Given the description of an element on the screen output the (x, y) to click on. 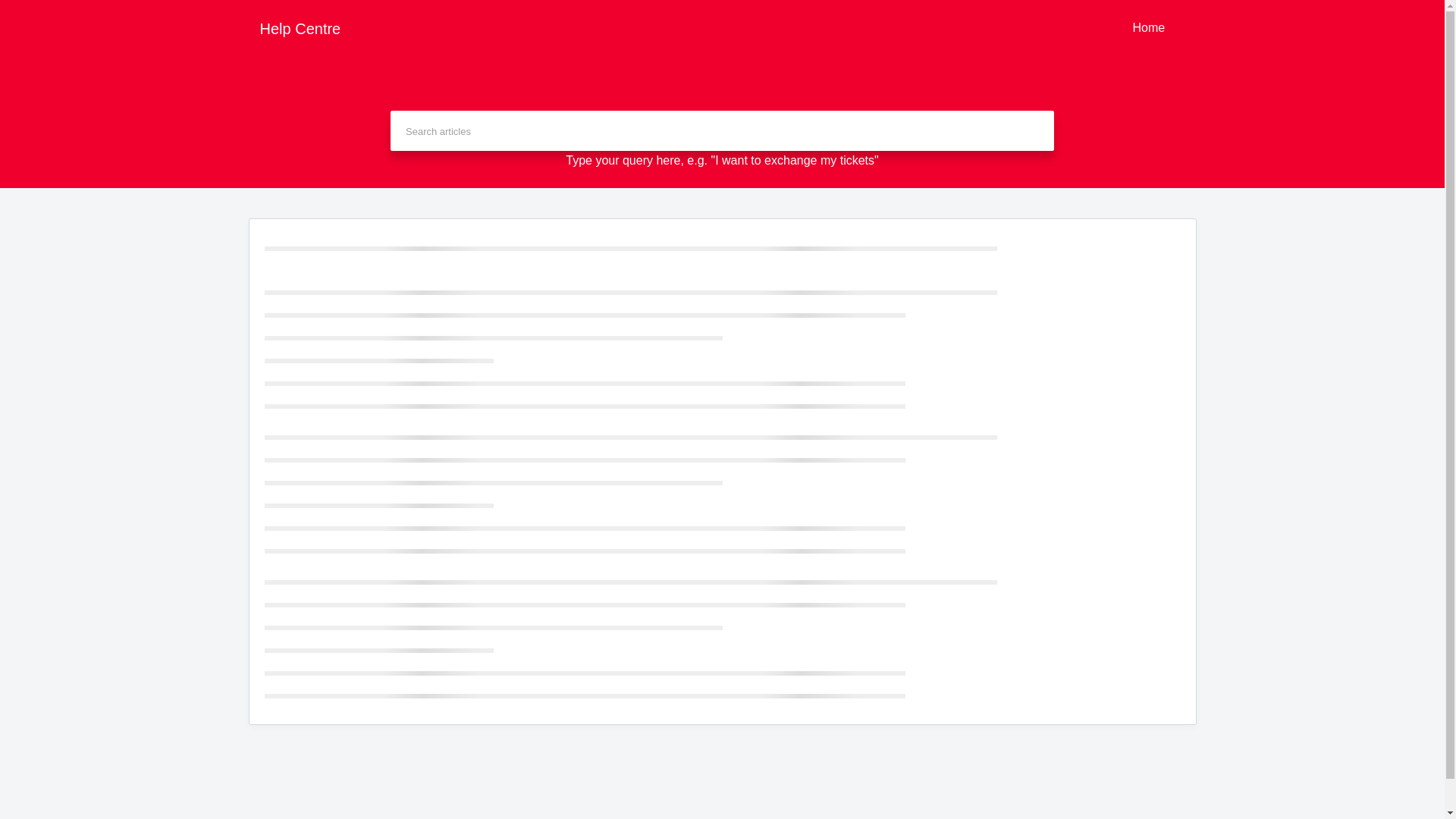
Home (1148, 27)
Home (1148, 27)
